Given the description of an element on the screen output the (x, y) to click on. 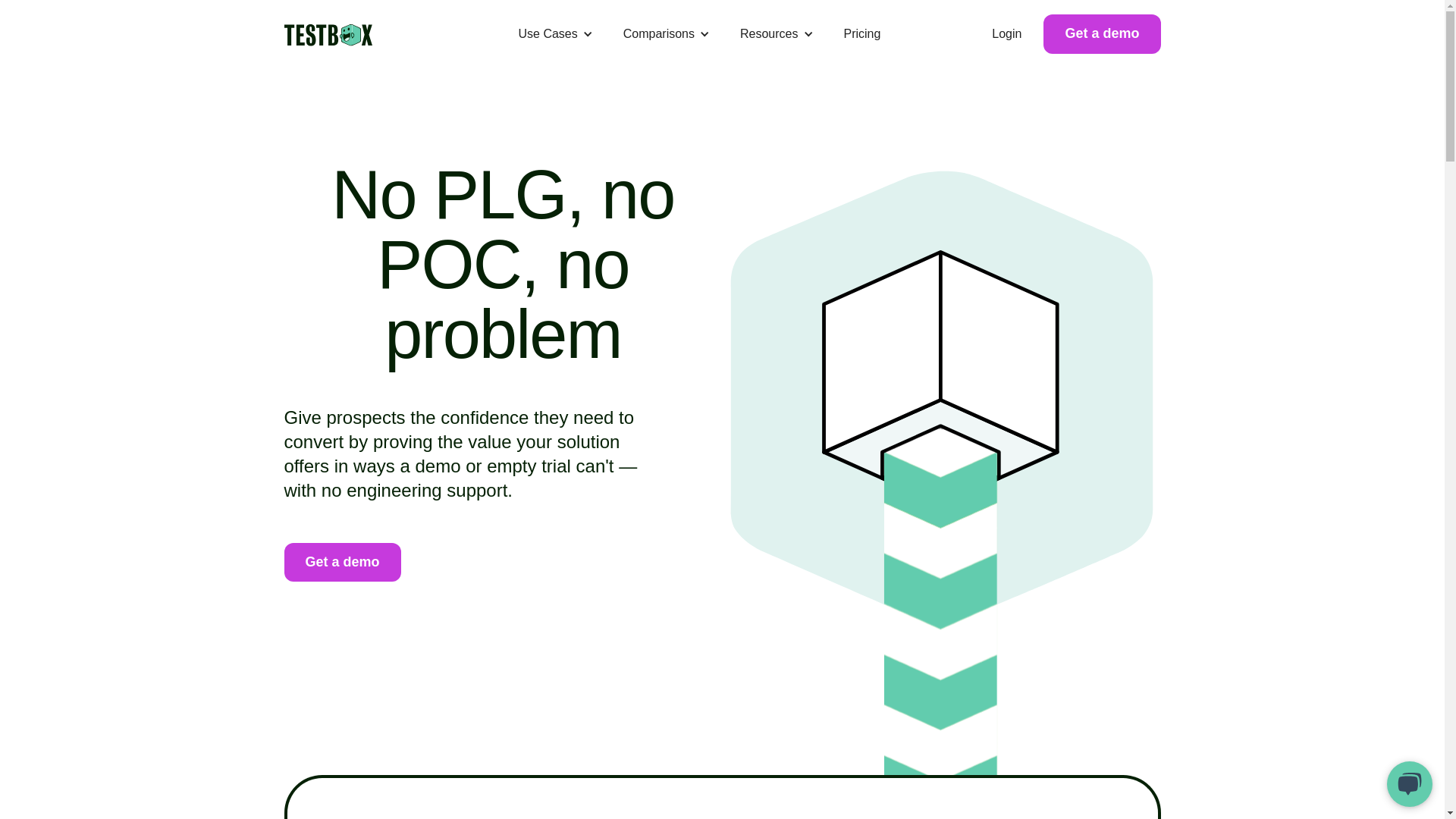
Login (1006, 33)
Pricing (861, 33)
Get a demo (1101, 33)
Get a demo (341, 561)
